Given the description of an element on the screen output the (x, y) to click on. 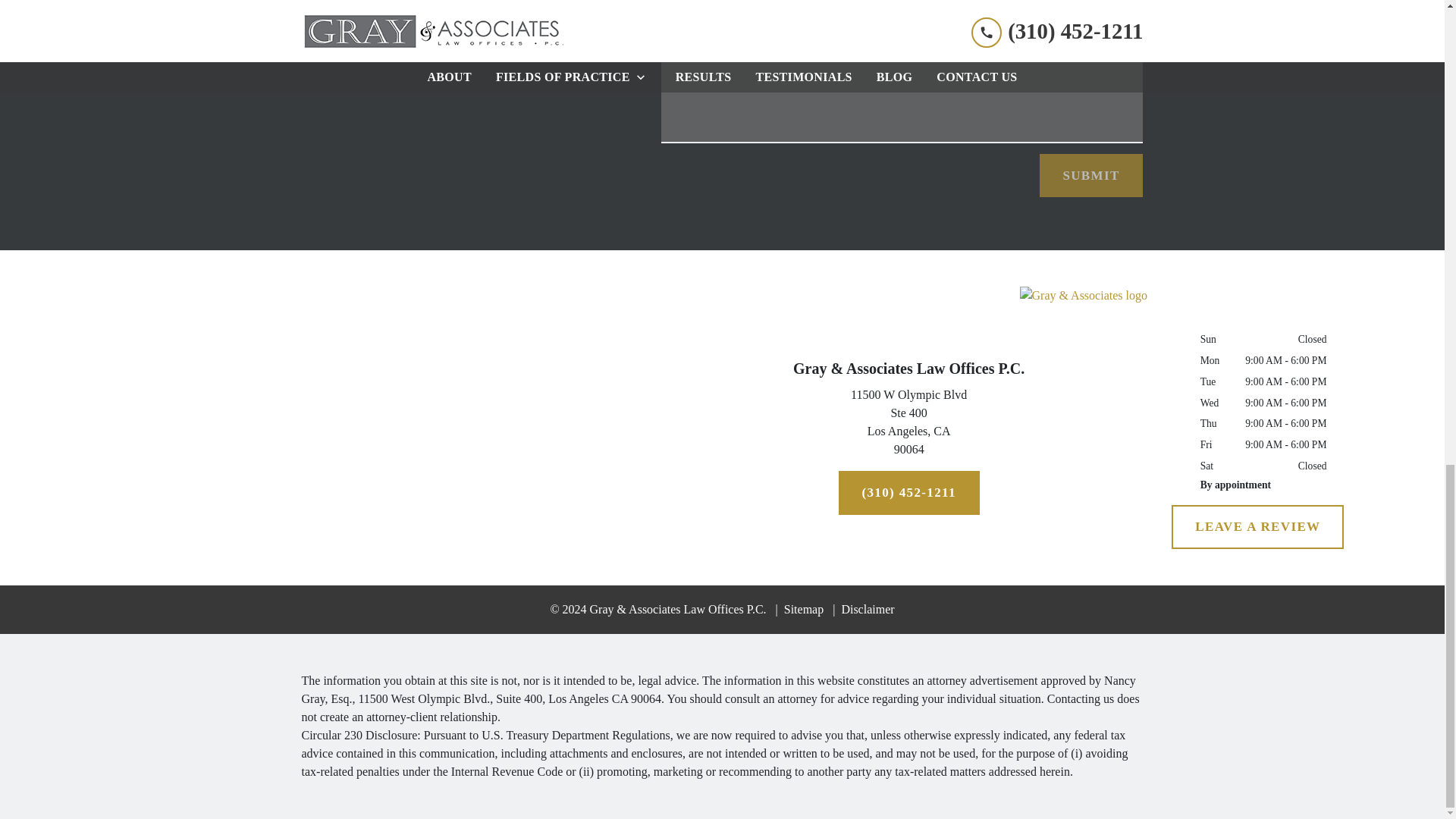
LEAVE A REVIEW (1257, 526)
Disclaimer (862, 608)
SUBMIT (908, 425)
Sitemap (1090, 175)
